Given the description of an element on the screen output the (x, y) to click on. 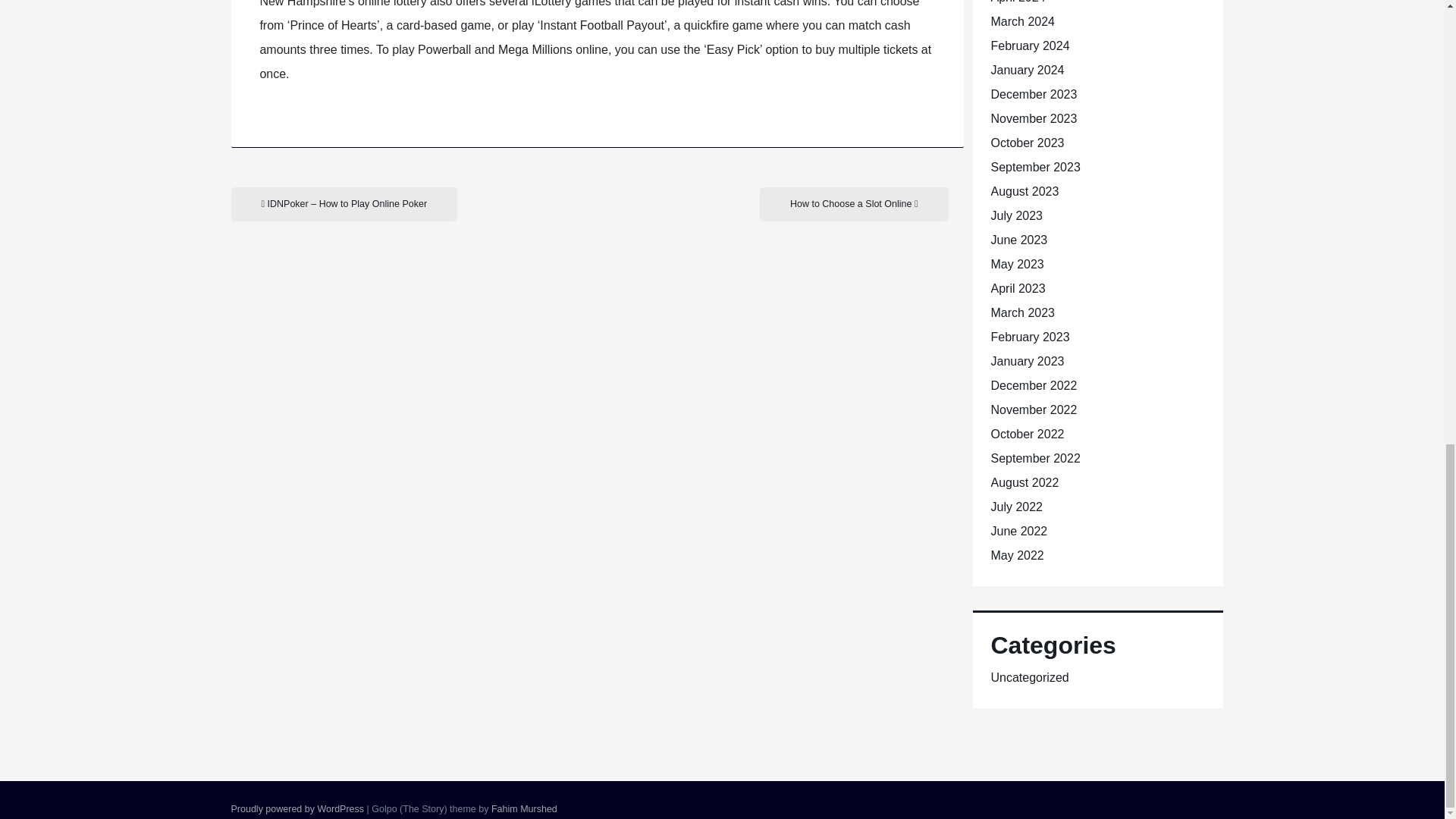
August 2023 (1024, 191)
February 2023 (1029, 336)
January 2024 (1027, 69)
April 2024 (1017, 2)
October 2023 (1027, 142)
June 2023 (1018, 239)
February 2024 (1029, 45)
May 2023 (1016, 264)
December 2023 (1033, 93)
April 2023 (1017, 287)
